Given the description of an element on the screen output the (x, y) to click on. 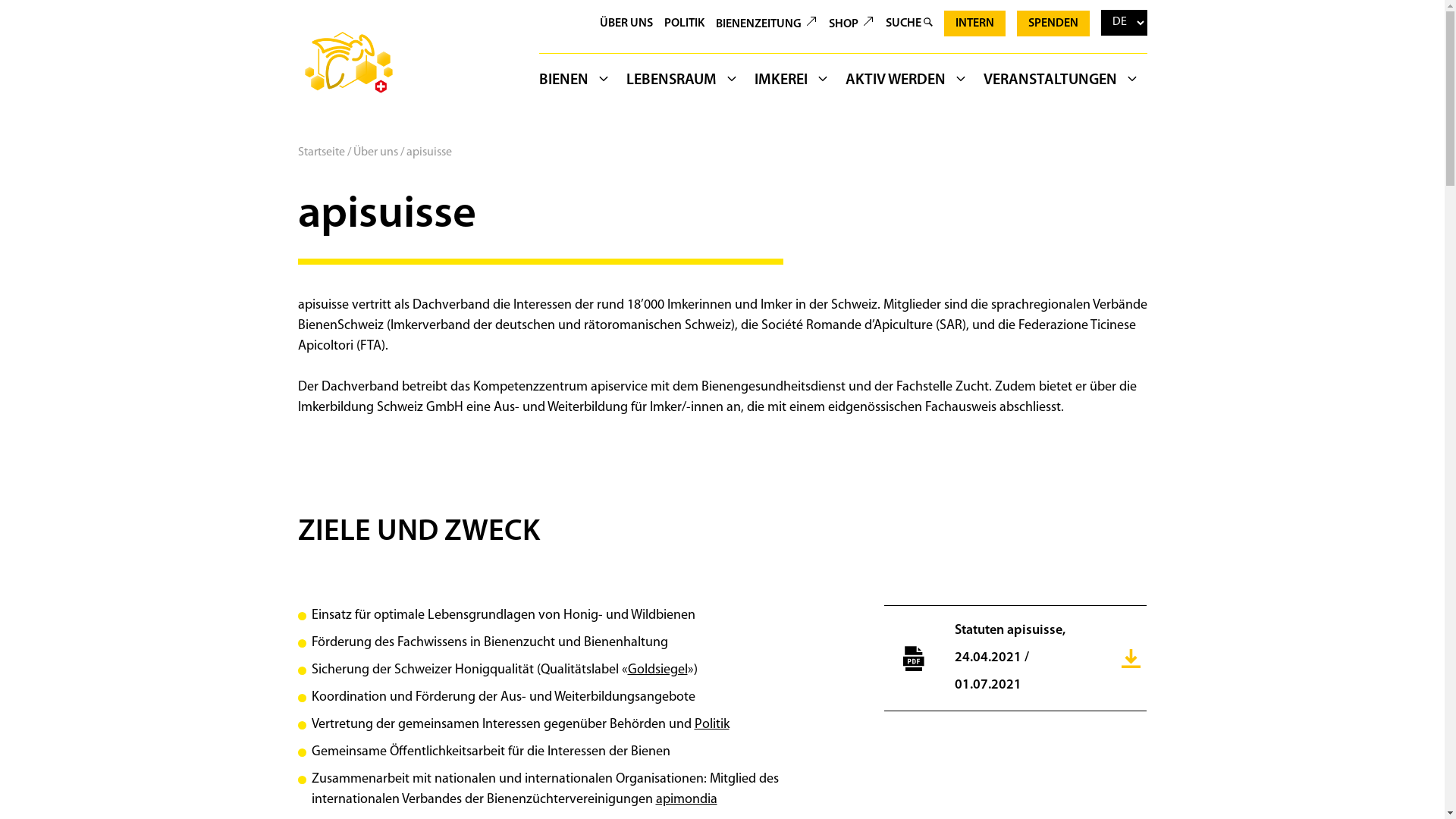
BIENENZEITUNG Element type: text (765, 23)
SHOP Element type: text (850, 23)
BIENEN Element type: text (578, 83)
Politik Element type: text (711, 724)
VERANSTALTUNGEN Element type: text (1060, 83)
IMKEREI Element type: text (791, 83)
SPENDEN Element type: text (1052, 23)
INTERN Element type: text (973, 23)
LEBENSRAUM Element type: text (682, 83)
Goldsiegel Element type: text (657, 669)
apimondia Element type: text (685, 799)
Statuten apisuisse, 24.04.2021 / 01.07.2021  Element type: text (1015, 657)
SUCHE Element type: text (908, 23)
AKTIV WERDEN Element type: text (906, 83)
POLITIK Element type: text (683, 23)
Startseite Element type: text (320, 152)
